Given the description of an element on the screen output the (x, y) to click on. 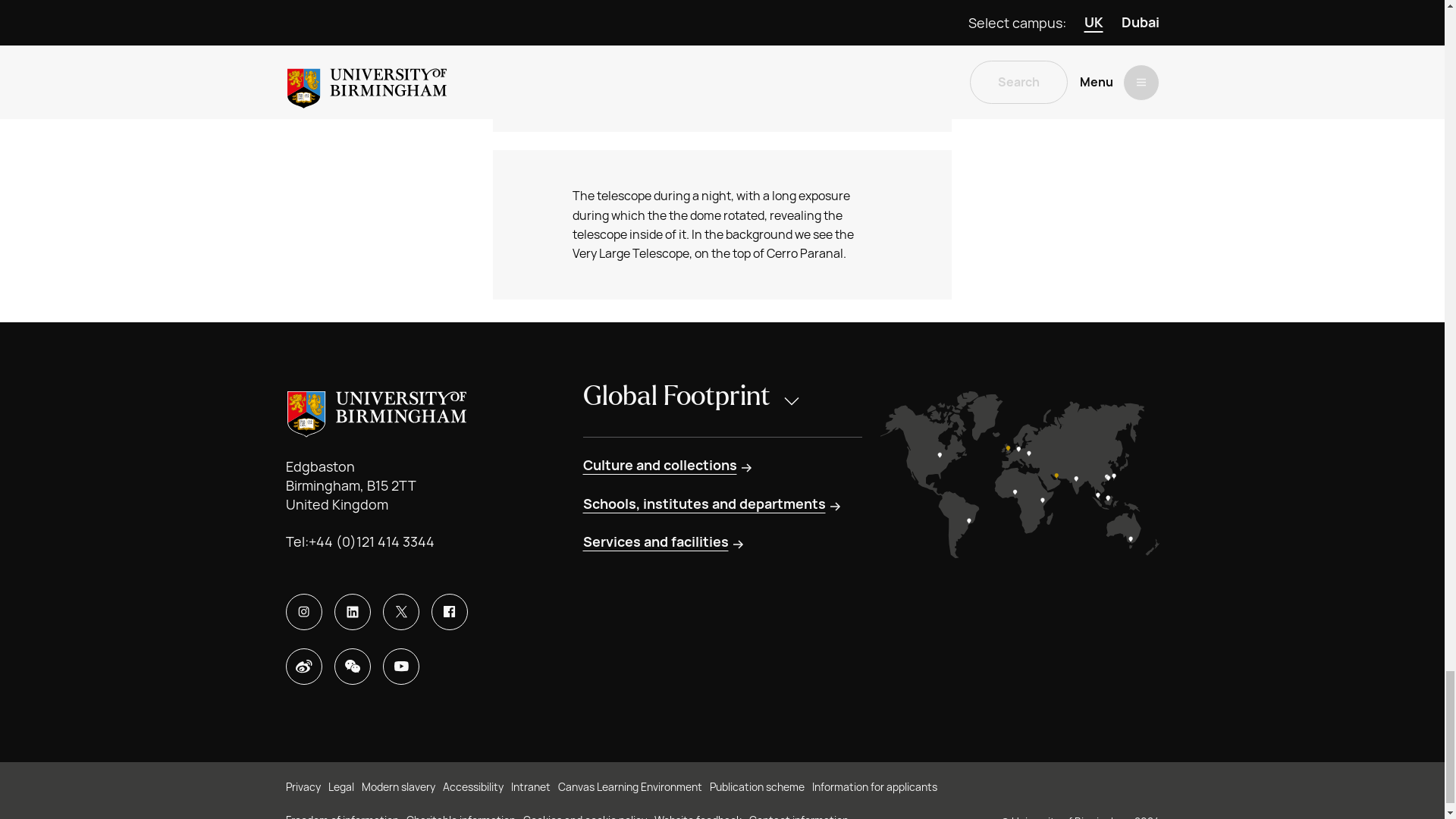
Canvas Learning Environment (629, 787)
Services and facilities (663, 542)
Contact information (798, 815)
Schools, institutes and departments (712, 504)
Cookies and cookie policy (584, 815)
Modern slavery (397, 787)
Privacy (302, 787)
Information for applicants (873, 787)
Legal (340, 787)
Accessibility (472, 787)
